Given the description of an element on the screen output the (x, y) to click on. 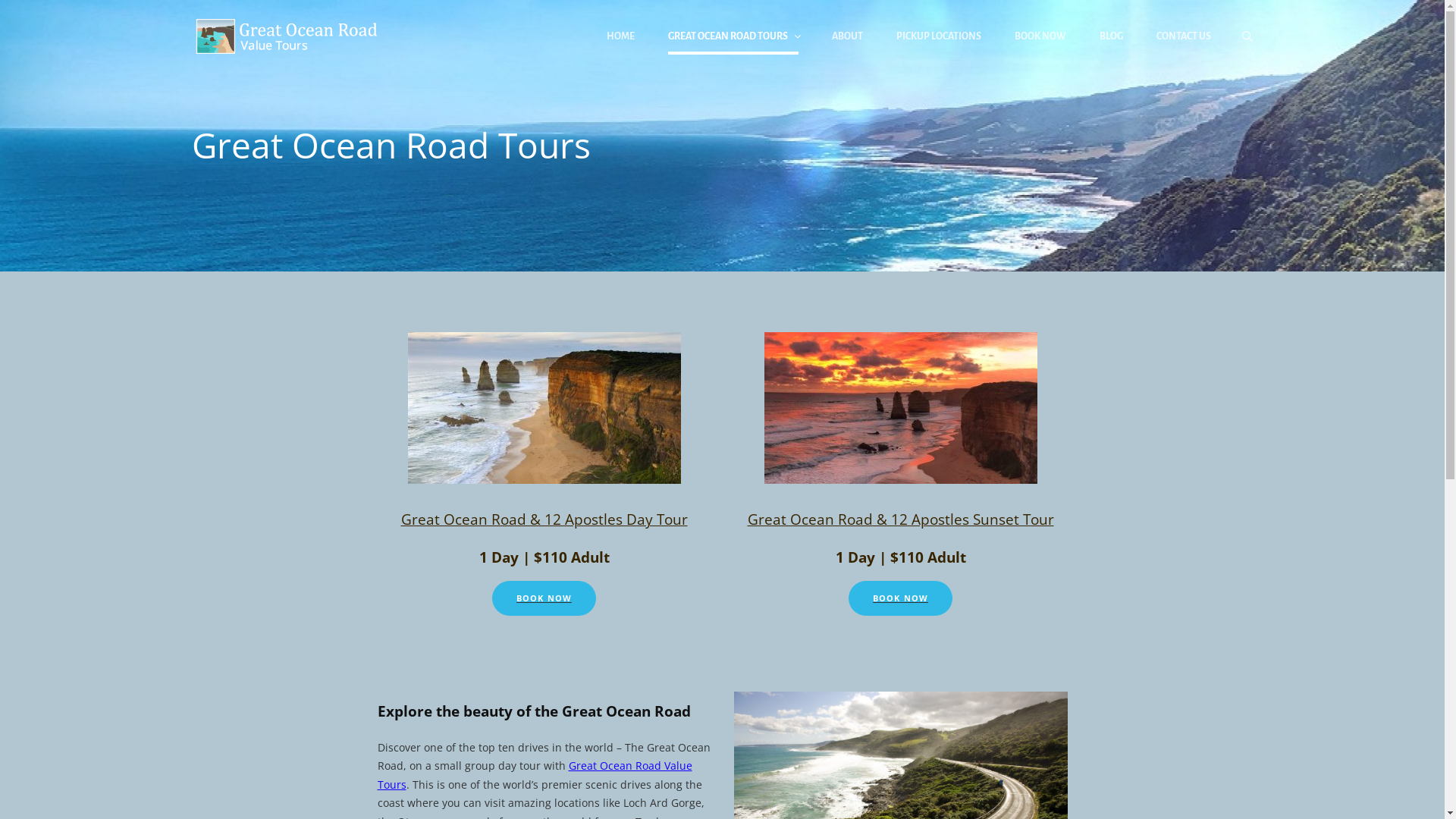
Great Ocean Road & 12 Apostles Day Tour Element type: text (543, 518)
GREAT OCEAN ROAD TOURS Element type: text (732, 36)
Twelve_Apostles Element type: hover (543, 407)
Sunset Element type: hover (900, 407)
HOME Element type: text (620, 36)
ABOUT Element type: text (846, 36)
BOOK NOW Element type: text (900, 597)
Great Ocean Road & 12 Apostles Sunset Tour Element type: text (900, 518)
BOOK NOW Element type: text (544, 597)
BOOK NOW Element type: text (1040, 36)
CONTACT US Element type: text (1182, 36)
BLOG Element type: text (1111, 36)
Great Ocean Road Value Tours Element type: text (534, 774)
PICKUP LOCATIONS Element type: text (938, 36)
